Given the description of an element on the screen output the (x, y) to click on. 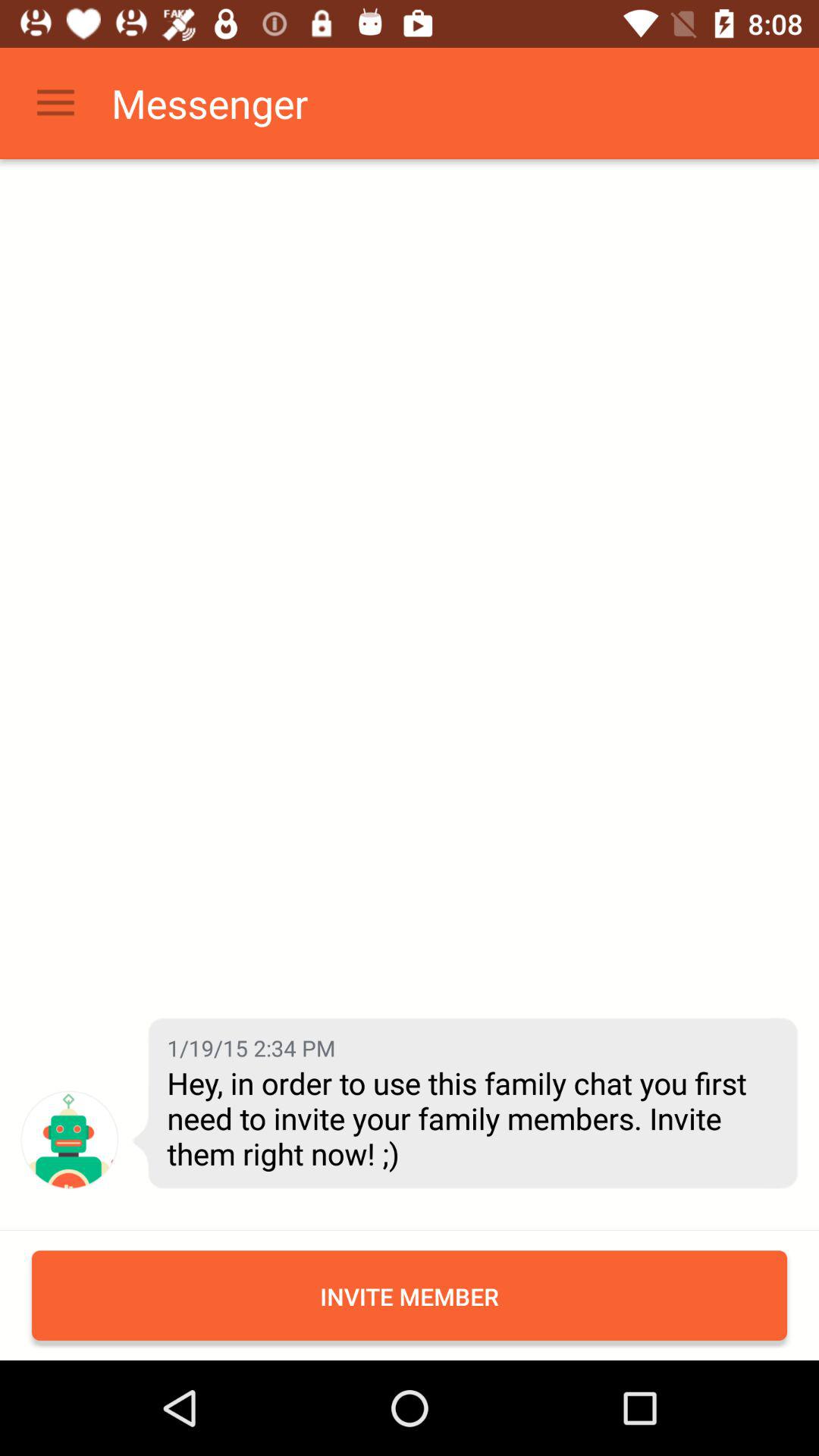
launch hey in order (471, 1117)
